Given the description of an element on the screen output the (x, y) to click on. 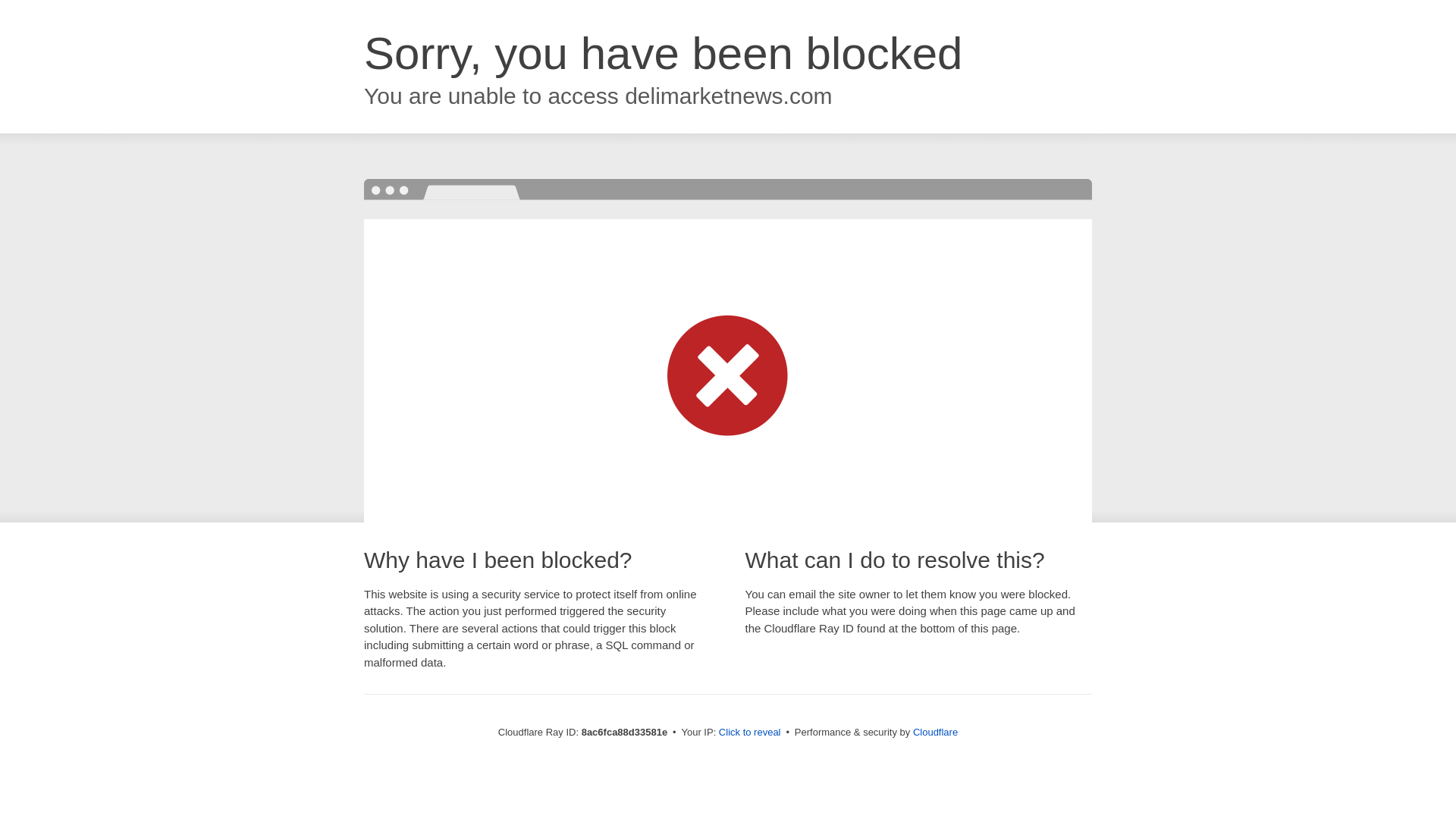
Cloudflare (935, 731)
Click to reveal (749, 732)
